Given the description of an element on the screen output the (x, y) to click on. 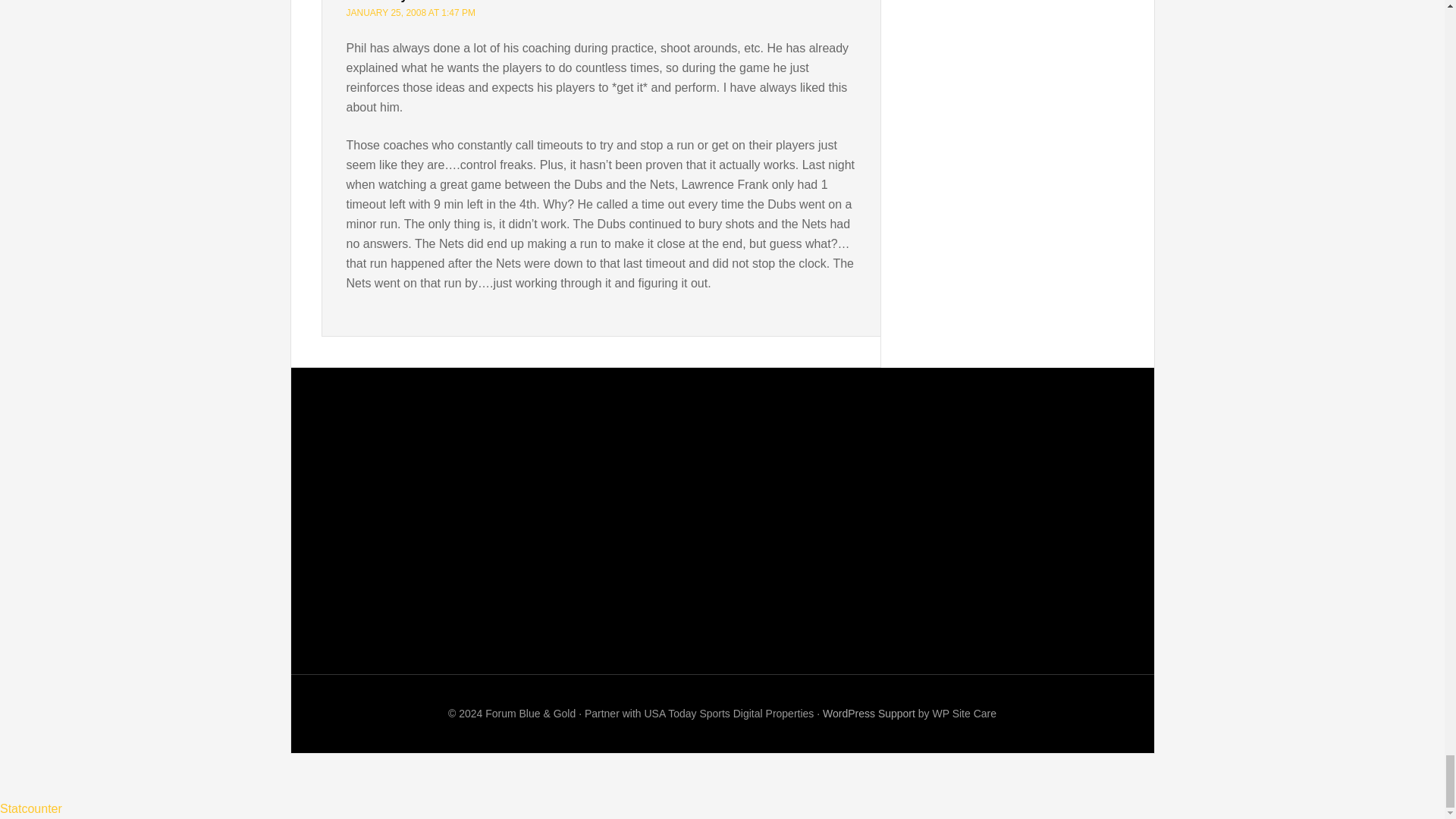
WordPress Support (868, 713)
